Given the description of an element on the screen output the (x, y) to click on. 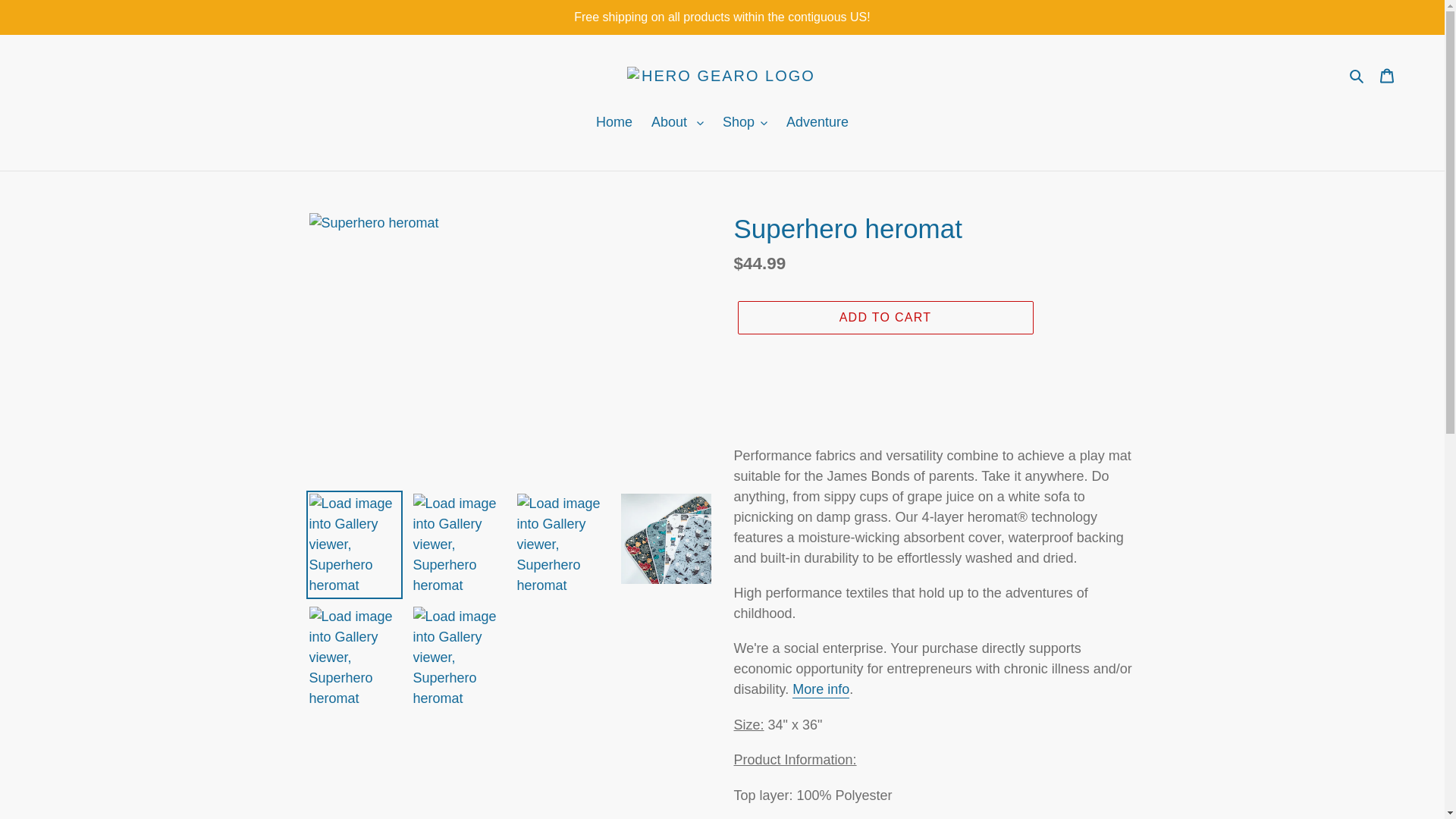
Search (1357, 75)
ADD TO CART (884, 317)
About (677, 123)
Shop (744, 123)
Cart (1387, 75)
More info (820, 689)
Adventure (817, 123)
Home (614, 123)
